Given the description of an element on the screen output the (x, y) to click on. 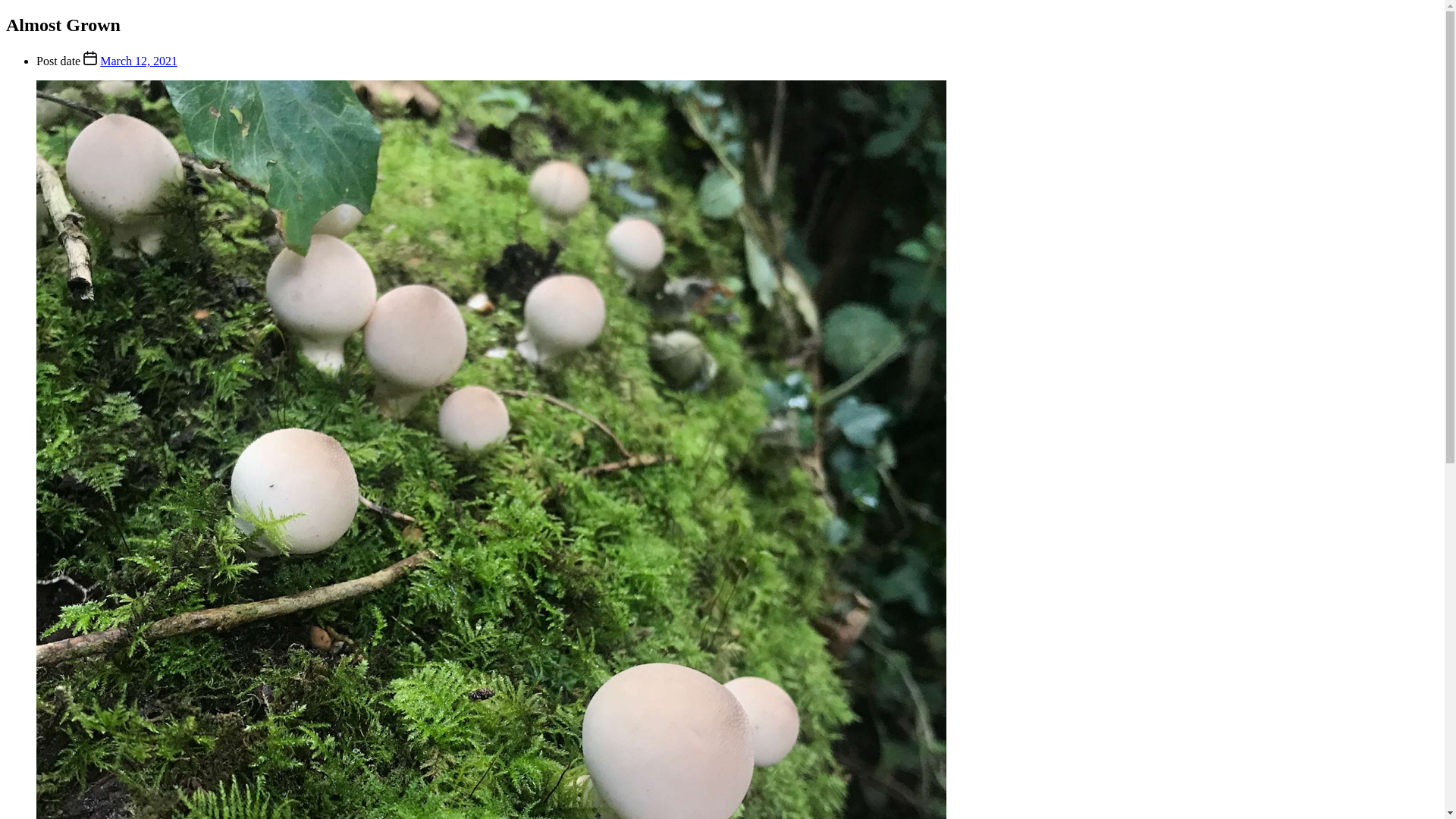
March 12, 2021 (138, 60)
